Given the description of an element on the screen output the (x, y) to click on. 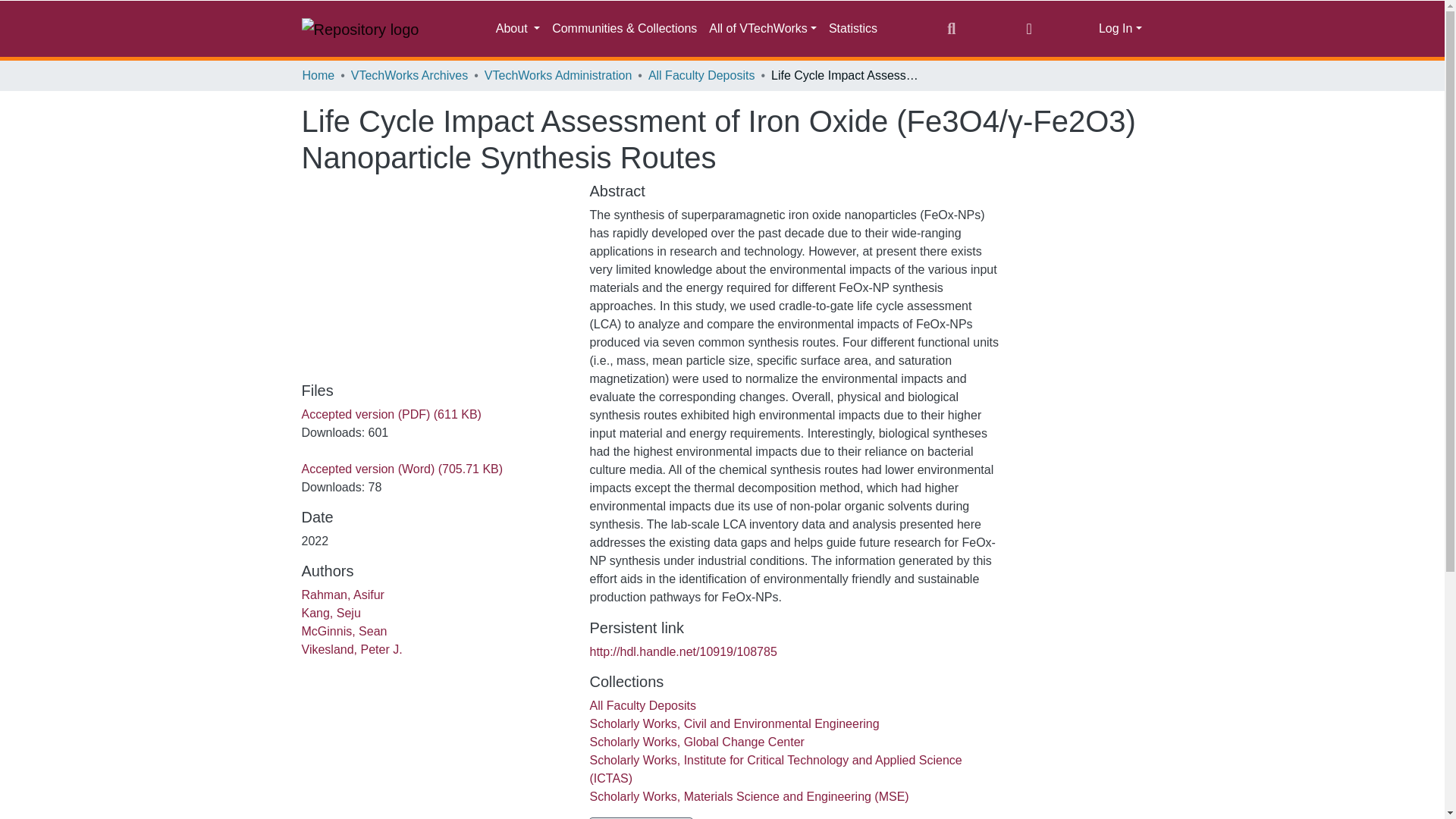
Log In (1119, 28)
McGinnis, Sean (344, 631)
All Faculty Deposits (701, 75)
Vikesland, Peter J. (352, 649)
Scholarly Works, Civil and Environmental Engineering (734, 723)
Scholarly Works, Global Change Center (696, 741)
All Faculty Deposits (642, 705)
All of VTechWorks (762, 28)
Search (951, 28)
VTechWorks Archives (408, 75)
